Given the description of an element on the screen output the (x, y) to click on. 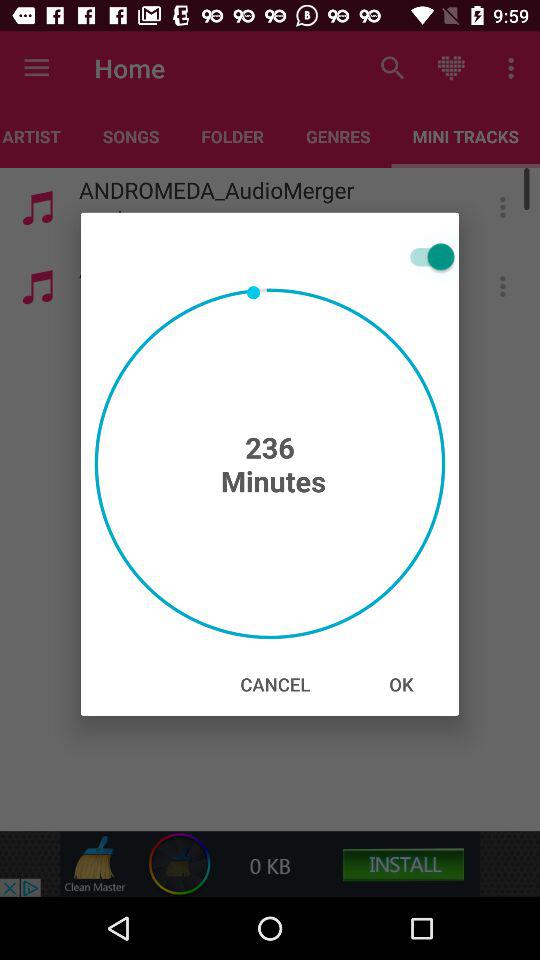
click item to the left of ok item (275, 683)
